Given the description of an element on the screen output the (x, y) to click on. 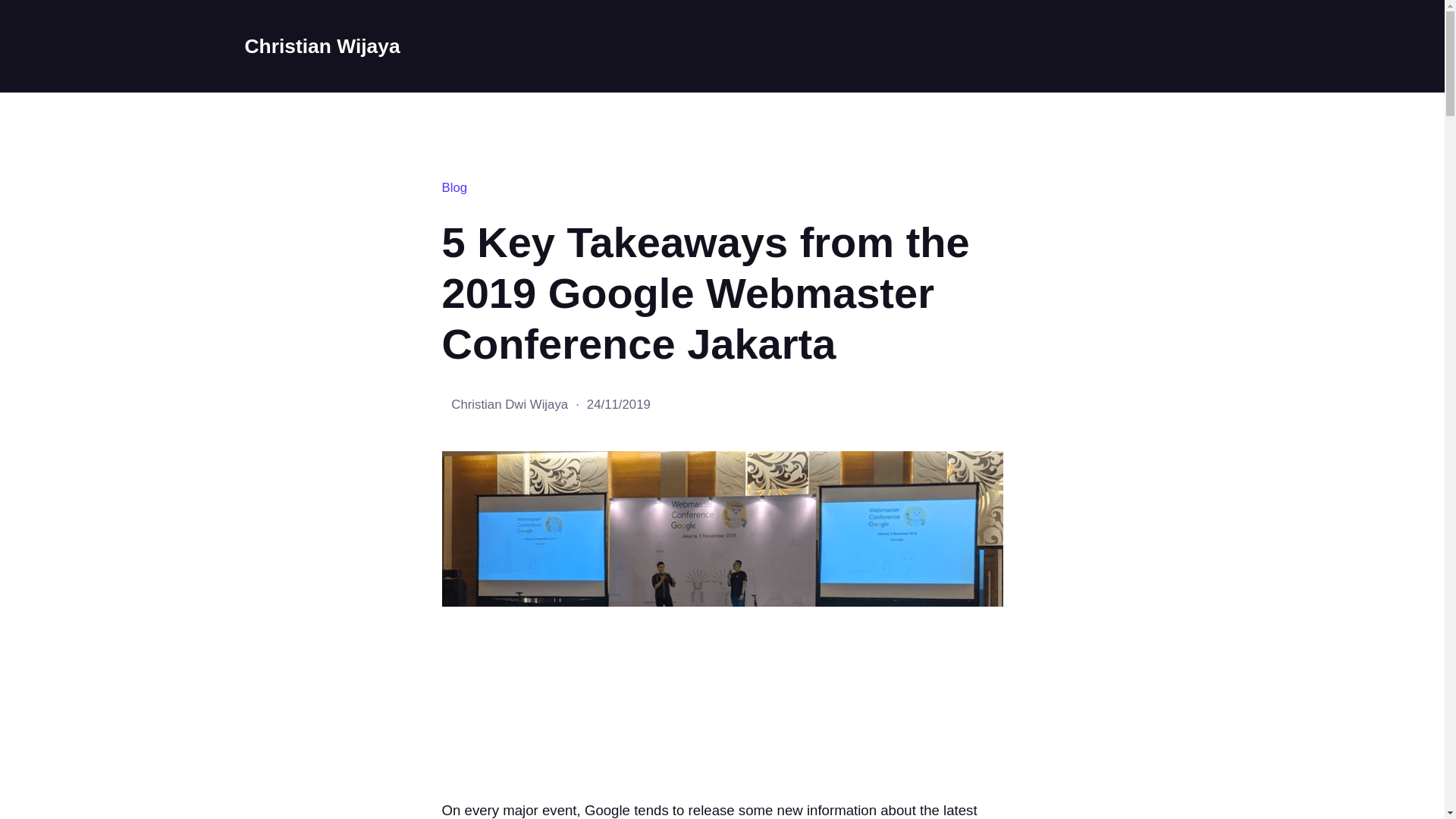
Christian Wijaya (321, 46)
Blog (454, 187)
